Given the description of an element on the screen output the (x, y) to click on. 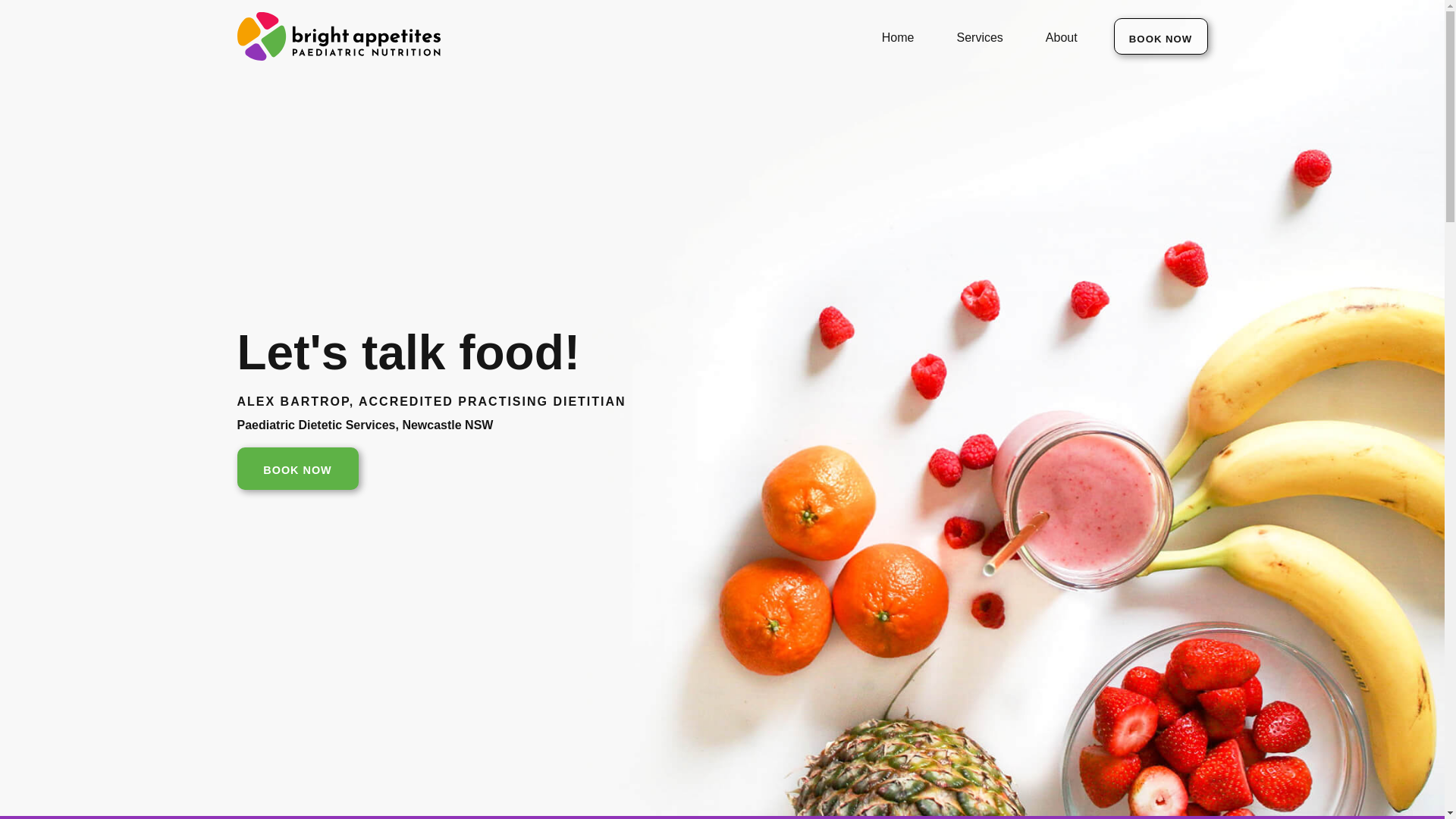
BOOK NOW (296, 468)
Services (979, 36)
About (1061, 36)
BOOK NOW (1160, 36)
Home (898, 36)
